Given the description of an element on the screen output the (x, y) to click on. 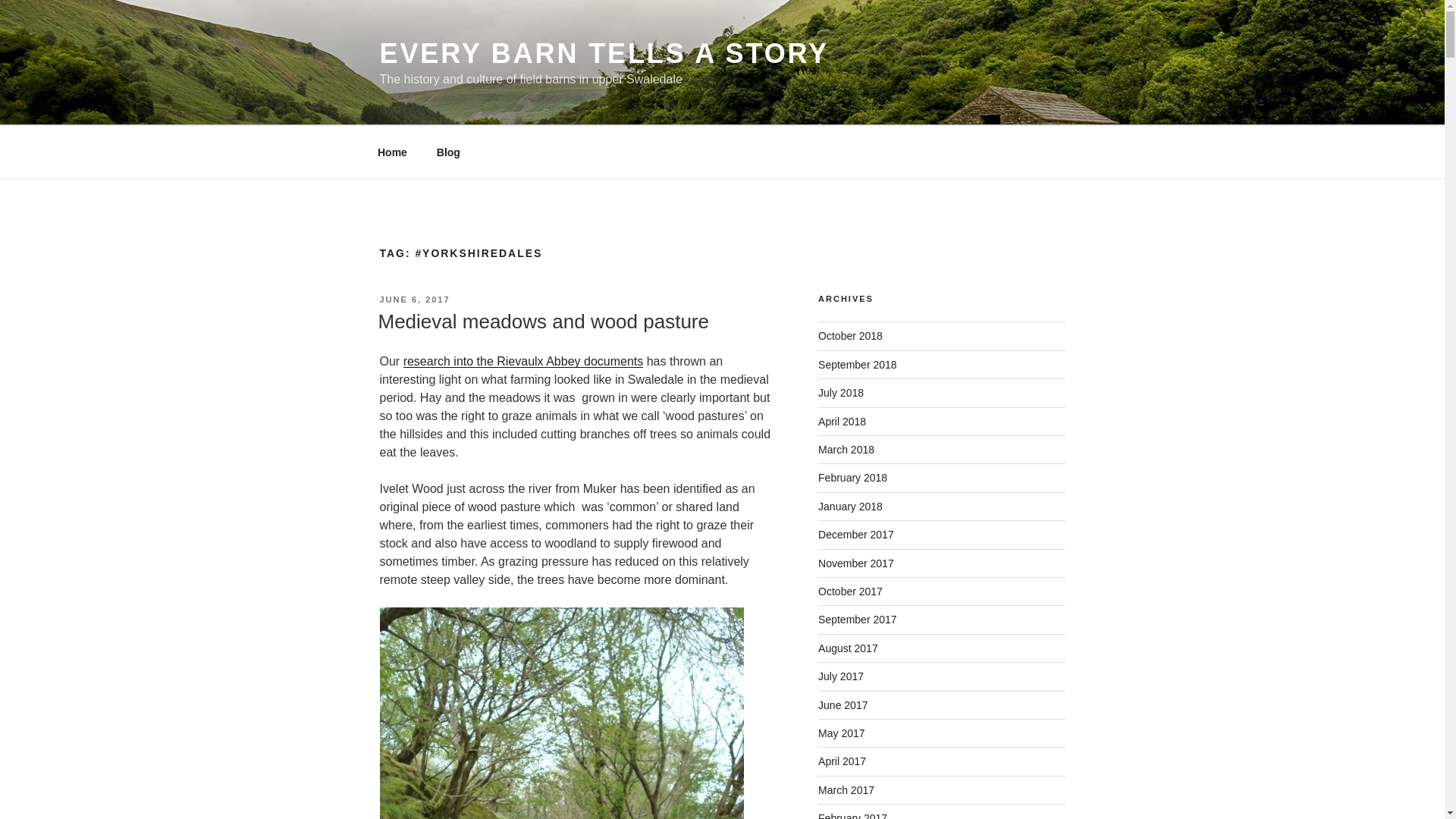
Medieval meadows and wood pasture (542, 321)
Home (392, 151)
research into the Rievaulx Abbey documents (523, 360)
Blog (448, 151)
JUNE 6, 2017 (413, 298)
EVERY BARN TELLS A STORY (603, 52)
